Given the description of an element on the screen output the (x, y) to click on. 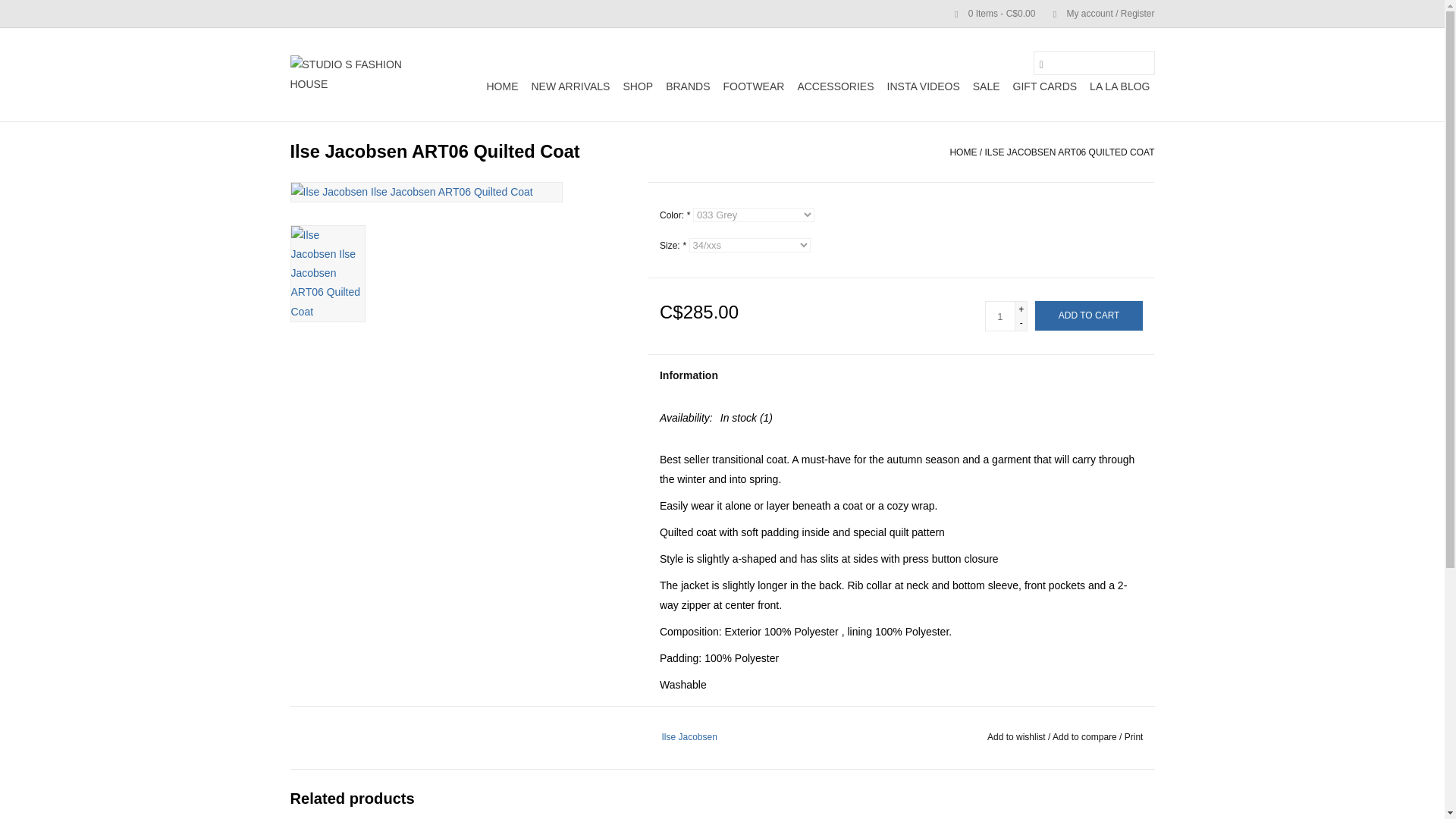
HOME (501, 86)
Cart (988, 13)
SHOP (637, 86)
1 (999, 316)
BRANDS (687, 86)
SHOP (637, 86)
NEW ARRIVALS (569, 86)
BRANDS (687, 86)
STUDIO S FASHION HOUSE (359, 74)
My account (1096, 13)
NEW ARRIVALS (569, 86)
